Given the description of an element on the screen output the (x, y) to click on. 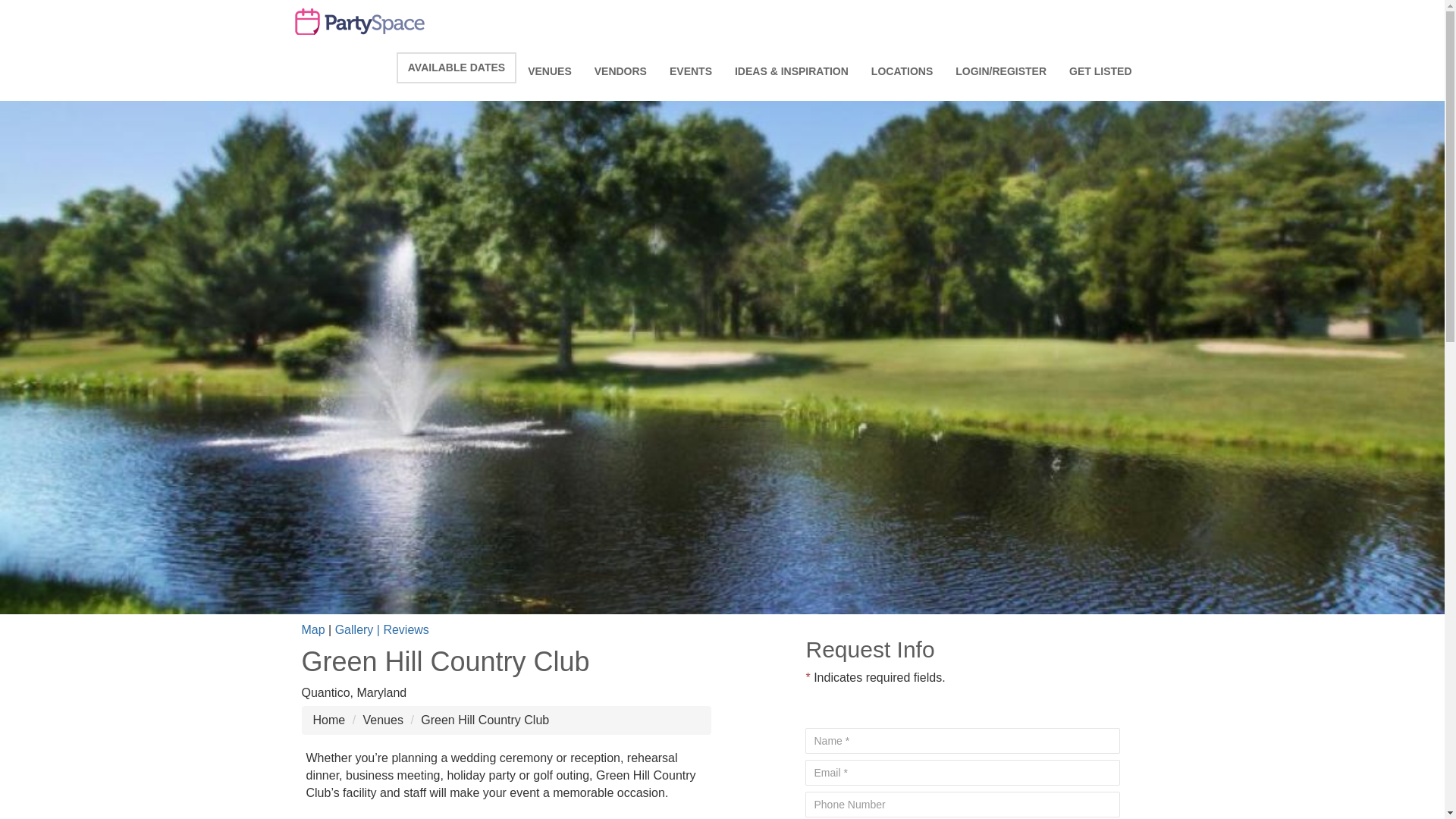
Home (329, 719)
VENUES (549, 71)
Gallery (354, 629)
Venues (382, 719)
AVAILABLE DATES (456, 67)
Map (312, 629)
EVENTS (690, 71)
VENDORS (620, 71)
GET LISTED (1100, 71)
LOCATIONS (901, 71)
